Given the description of an element on the screen output the (x, y) to click on. 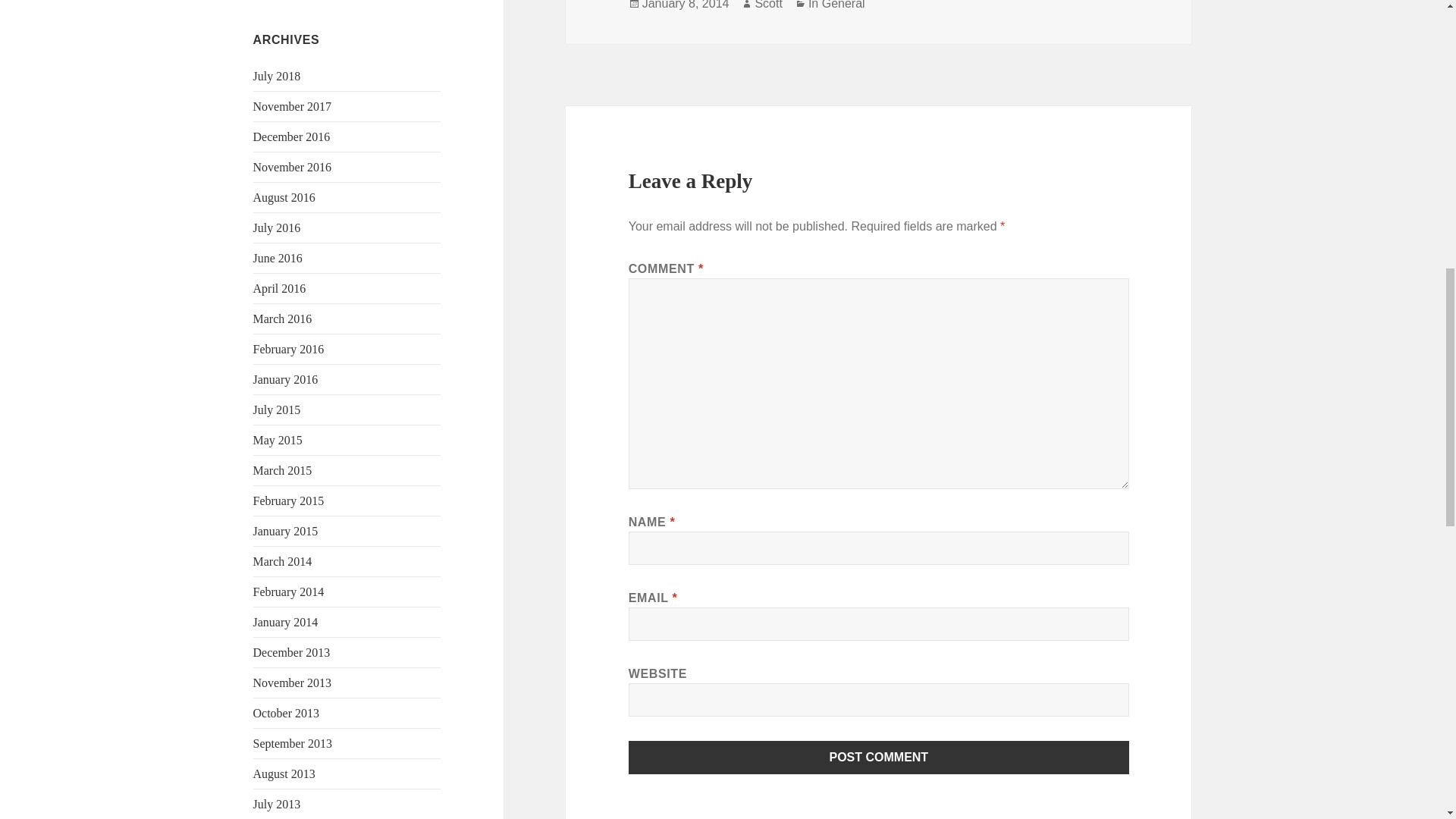
July 2016 (277, 227)
July 2015 (277, 409)
February 2014 (288, 591)
November 2016 (292, 166)
December 2013 (291, 652)
August 2016 (284, 196)
January 2014 (285, 621)
March 2015 (283, 470)
May 2015 (277, 440)
March 2014 (283, 561)
